Given the description of an element on the screen output the (x, y) to click on. 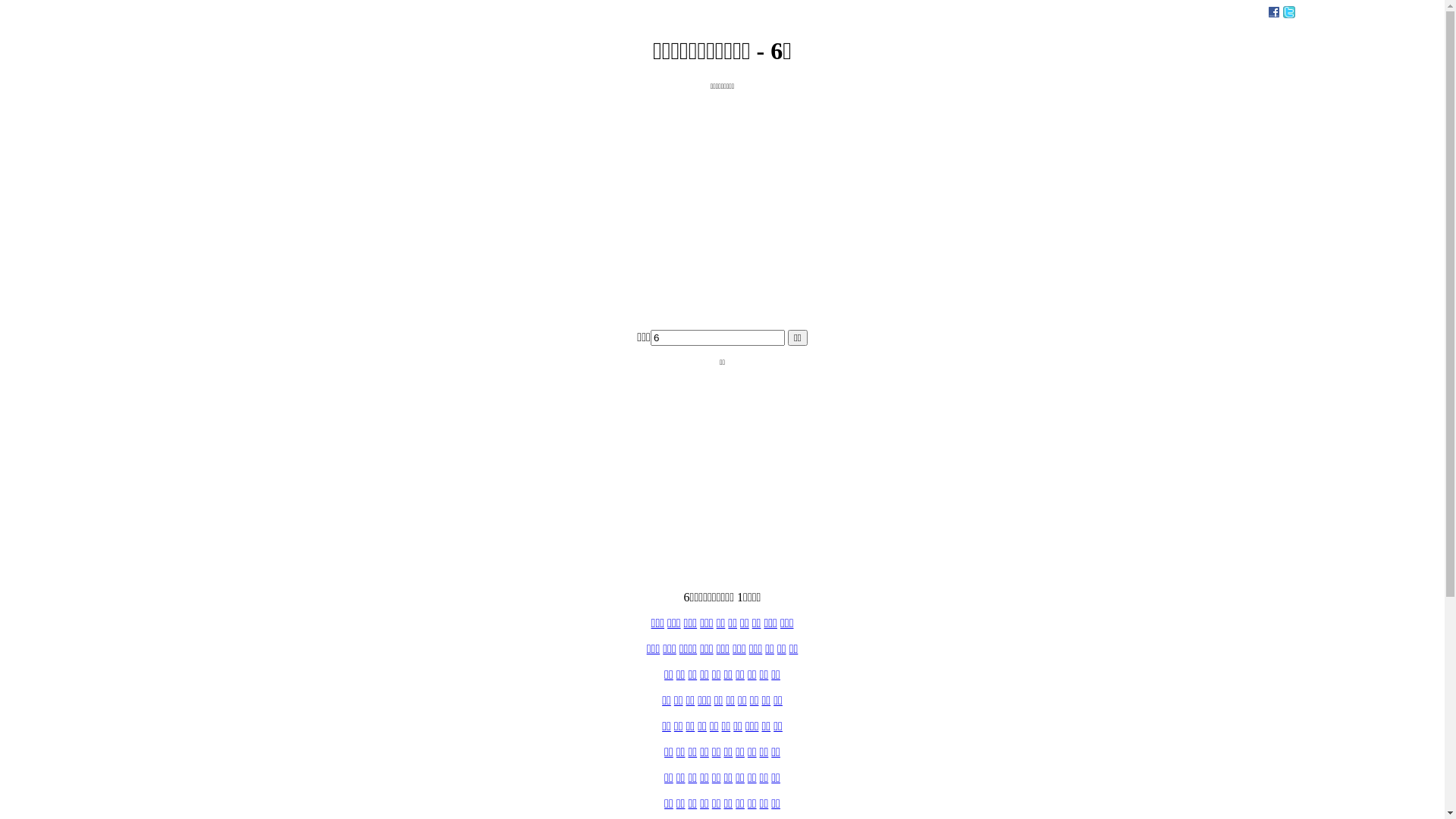
Advertisement Element type: hover (721, 472)
Advertisement Element type: hover (721, 196)
